Given the description of an element on the screen output the (x, y) to click on. 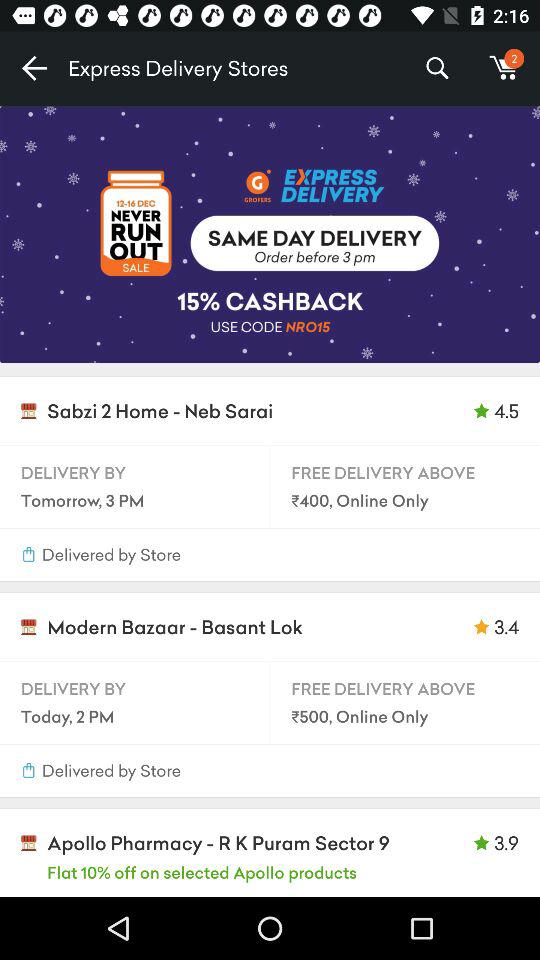
turn off icon next to % icon (503, 67)
